Given the description of an element on the screen output the (x, y) to click on. 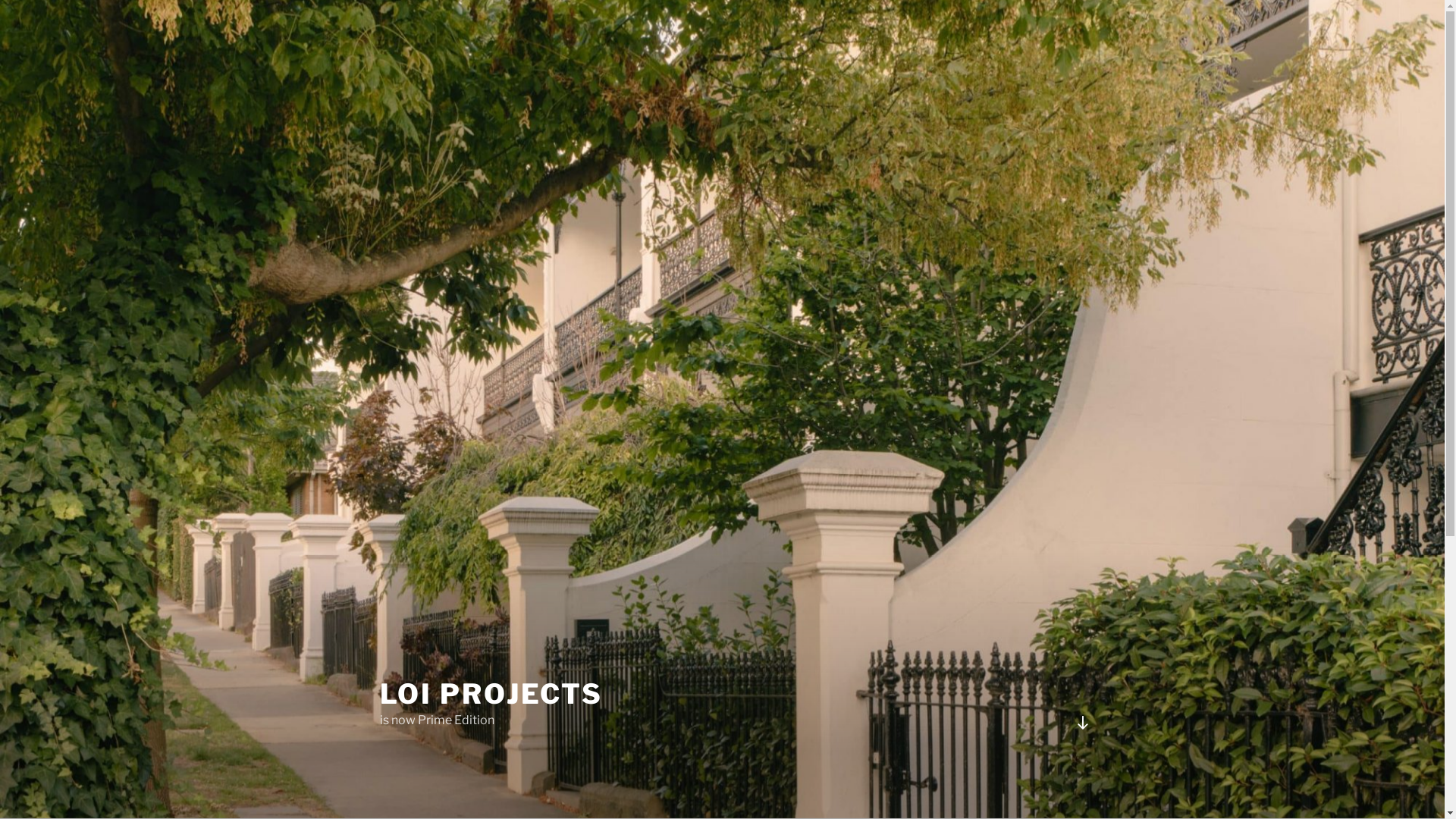
Scroll down to content Element type: text (1082, 722)
LOI PROJECTS Element type: text (490, 693)
